Given the description of an element on the screen output the (x, y) to click on. 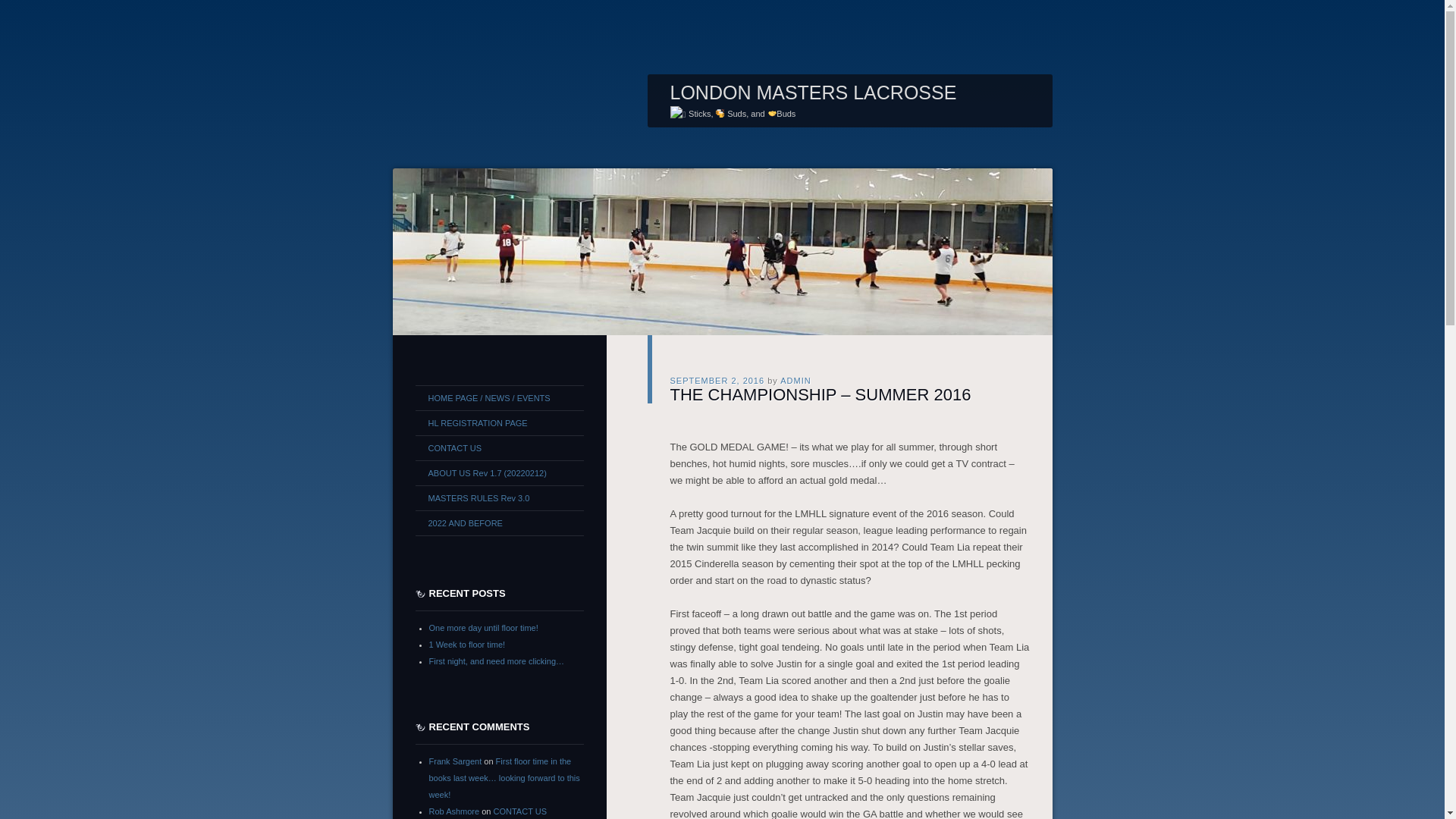
LONDON MASTERS LACROSSE (812, 92)
ADMIN (795, 379)
11:52 AM (717, 379)
View all posts by admin (795, 379)
SEPTEMBER 2, 2016 (717, 379)
MASTERS RULES Rev 3.0 (498, 498)
HL REGISTRATION PAGE (498, 422)
LONDON MASTERS LACROSSE (812, 92)
CONTACT US (498, 447)
2022 AND BEFORE (498, 523)
